Given the description of an element on the screen output the (x, y) to click on. 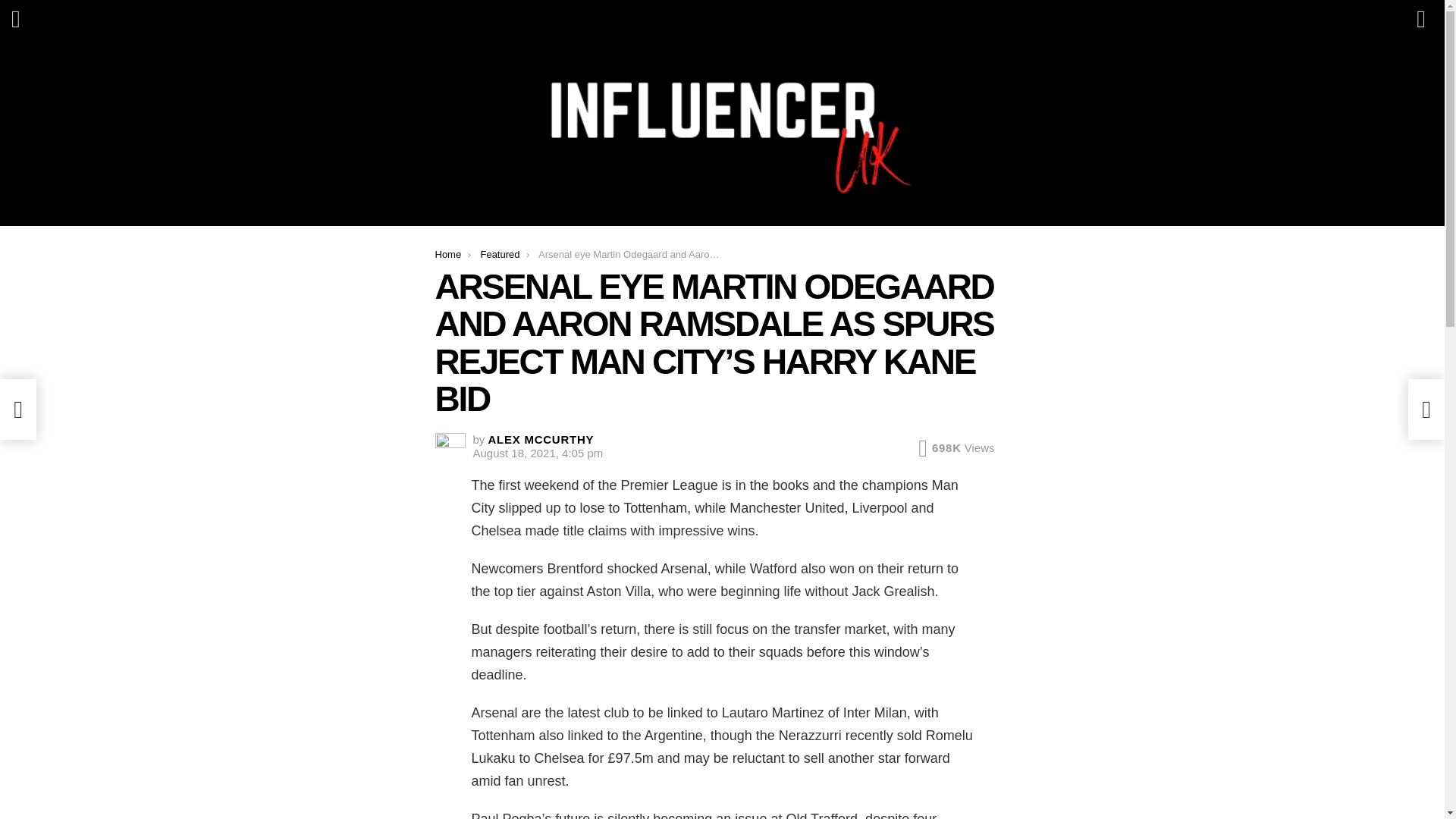
ALEX MCCURTHY (540, 439)
Featured (499, 254)
Home (448, 254)
Posts by Alex McCurthy (540, 439)
